Given the description of an element on the screen output the (x, y) to click on. 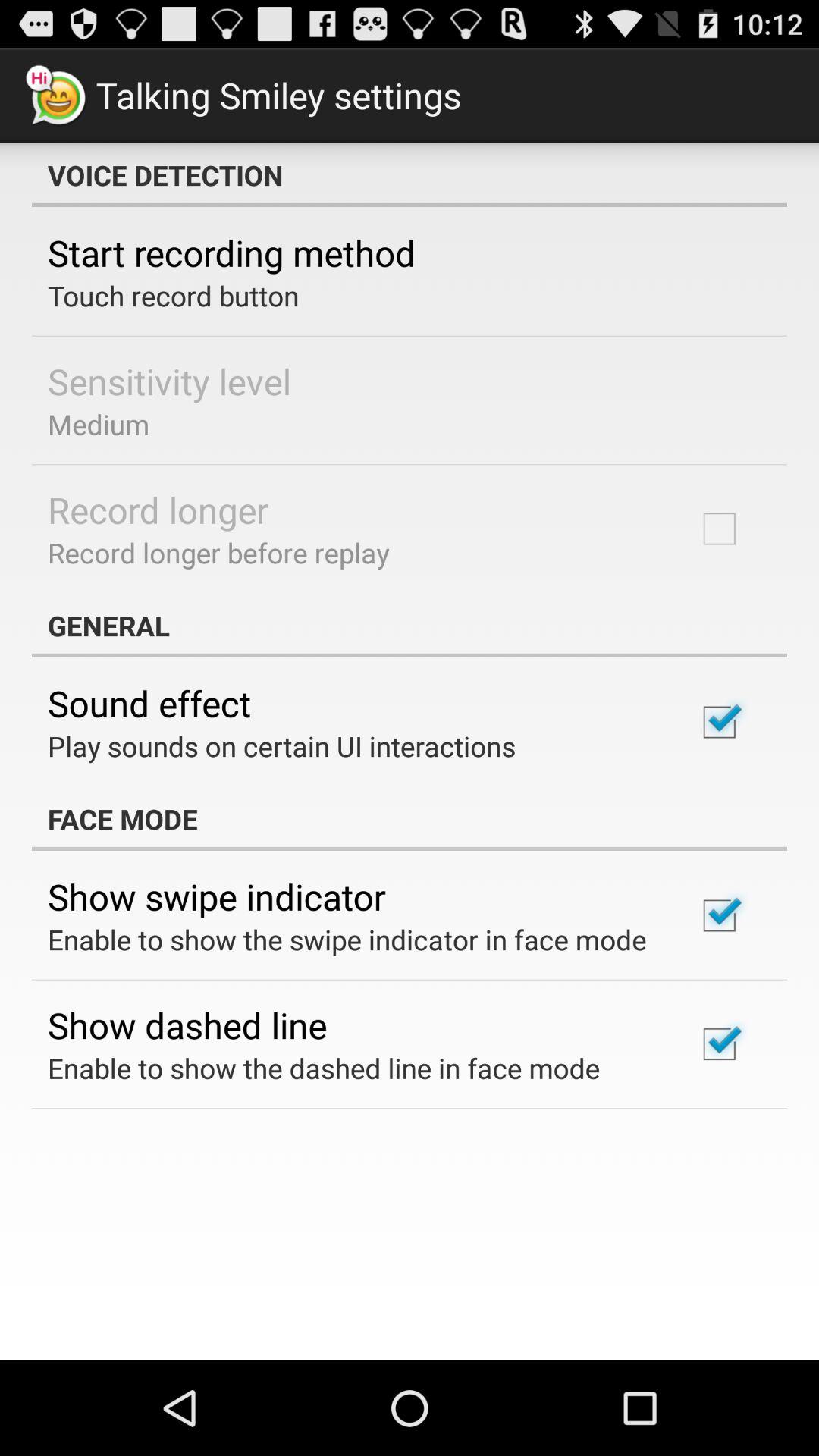
launch sensitivity level icon (169, 381)
